Given the description of an element on the screen output the (x, y) to click on. 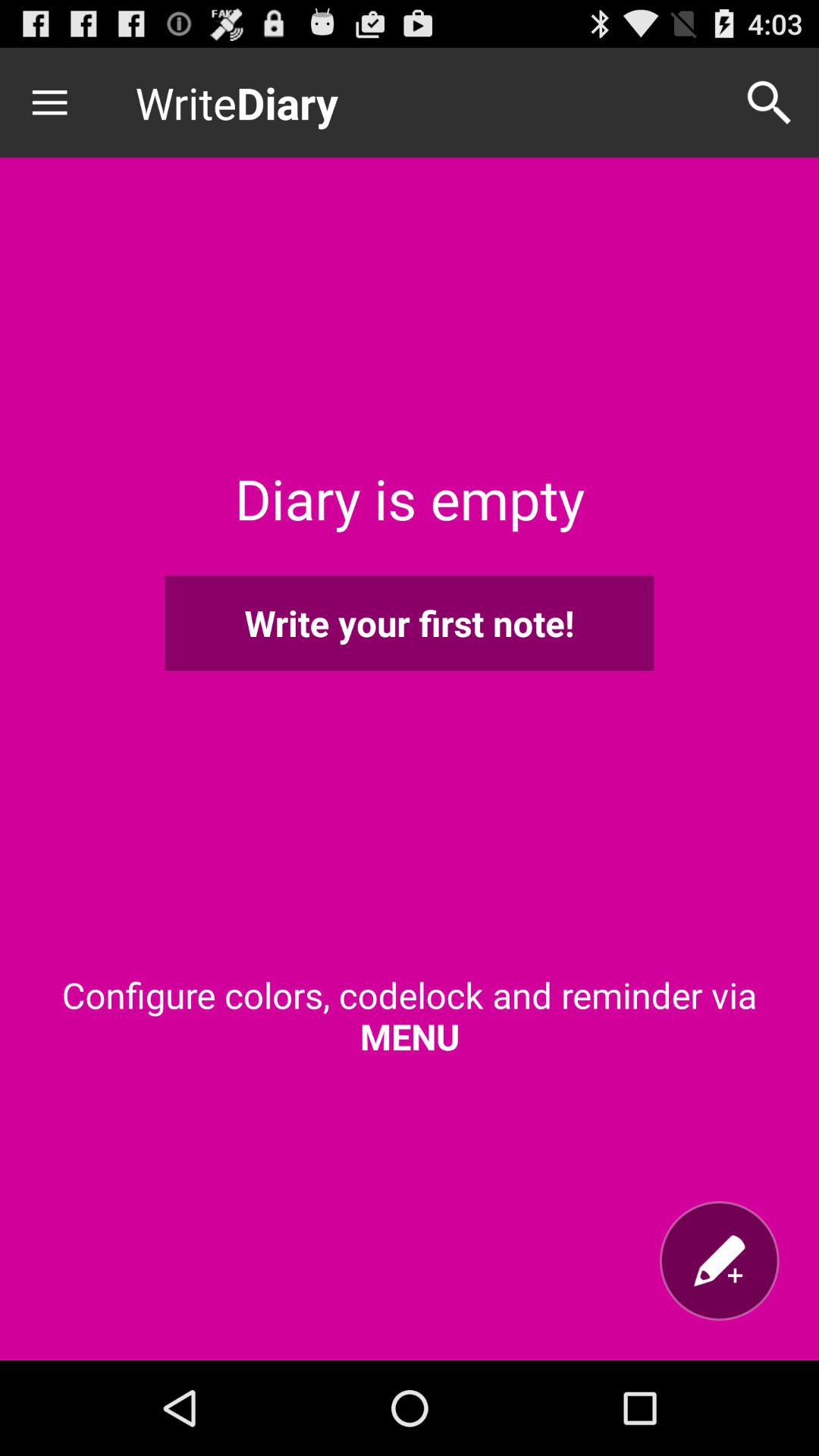
tap icon below the diary is empty item (409, 623)
